Given the description of an element on the screen output the (x, y) to click on. 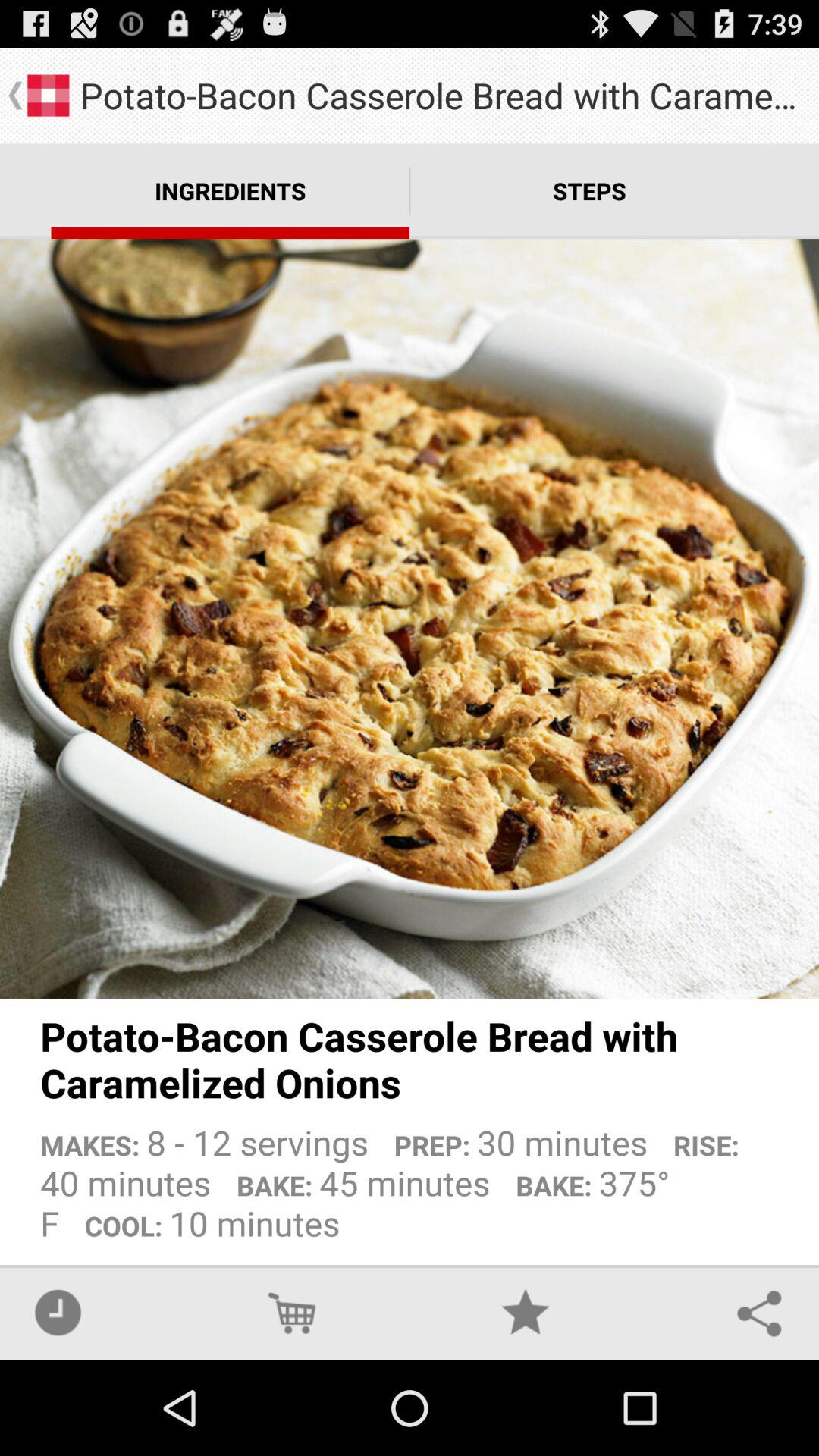
press the app above potato bacon casserole app (409, 618)
